Given the description of an element on the screen output the (x, y) to click on. 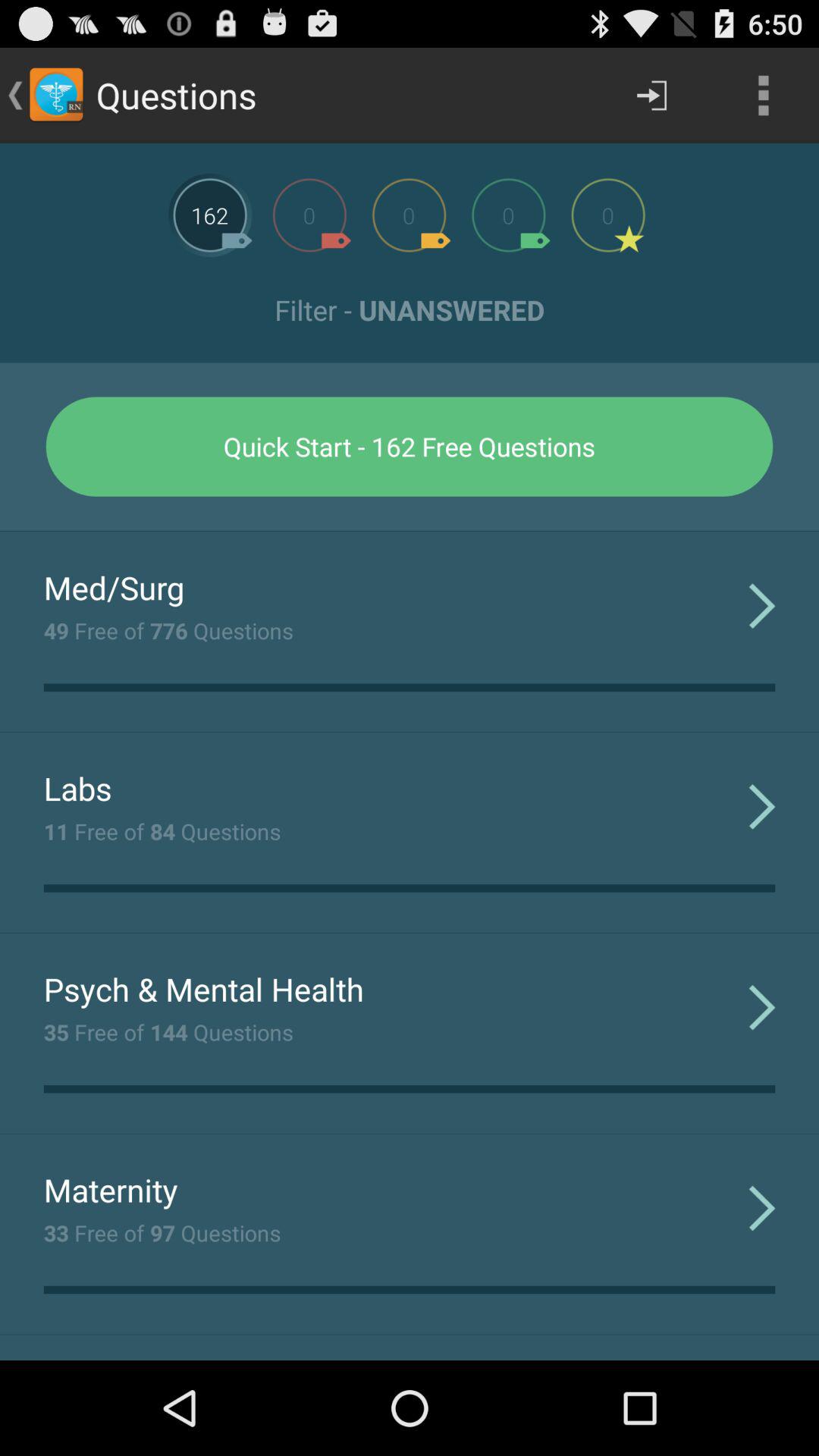
turn on the icon below the filter - unanswered (409, 446)
